Given the description of an element on the screen output the (x, y) to click on. 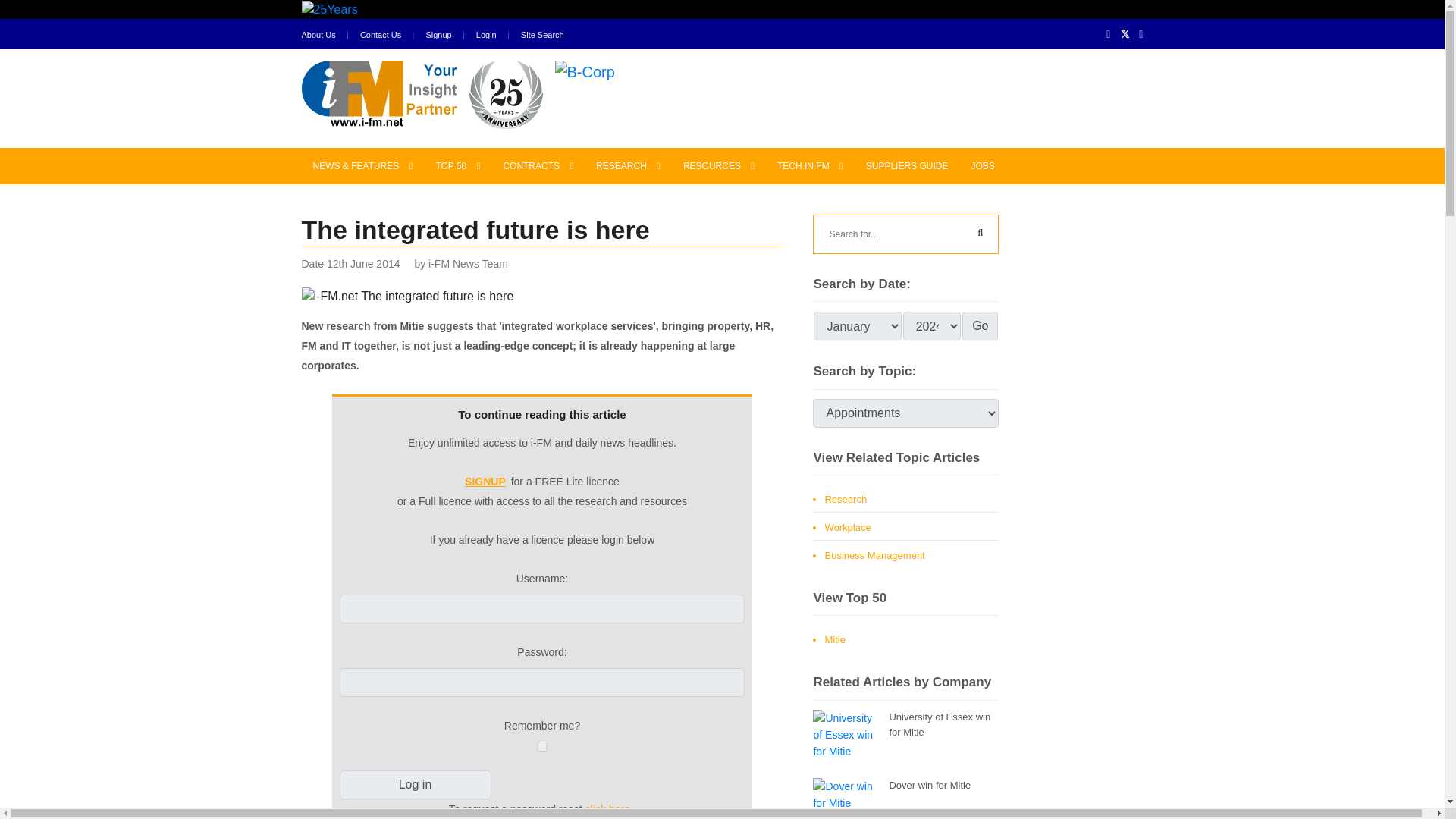
1 (542, 746)
About Us (318, 34)
Contact Us (380, 34)
Login (486, 34)
Site Search (542, 34)
Log in (415, 784)
Signup (438, 34)
Go (979, 326)
